Given the description of an element on the screen output the (x, y) to click on. 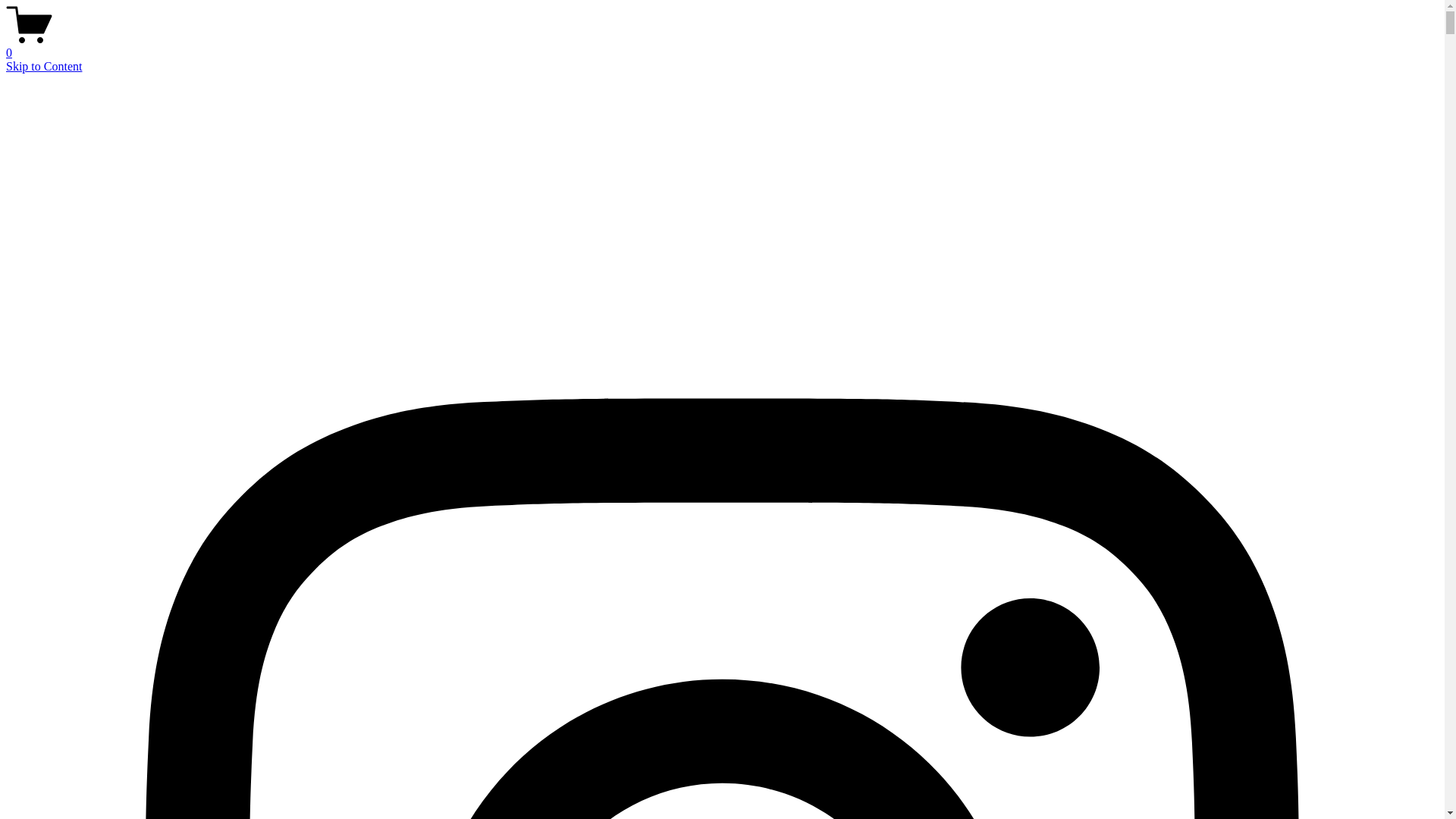
Skip to Content Element type: text (43, 65)
0 Element type: text (722, 45)
